Given the description of an element on the screen output the (x, y) to click on. 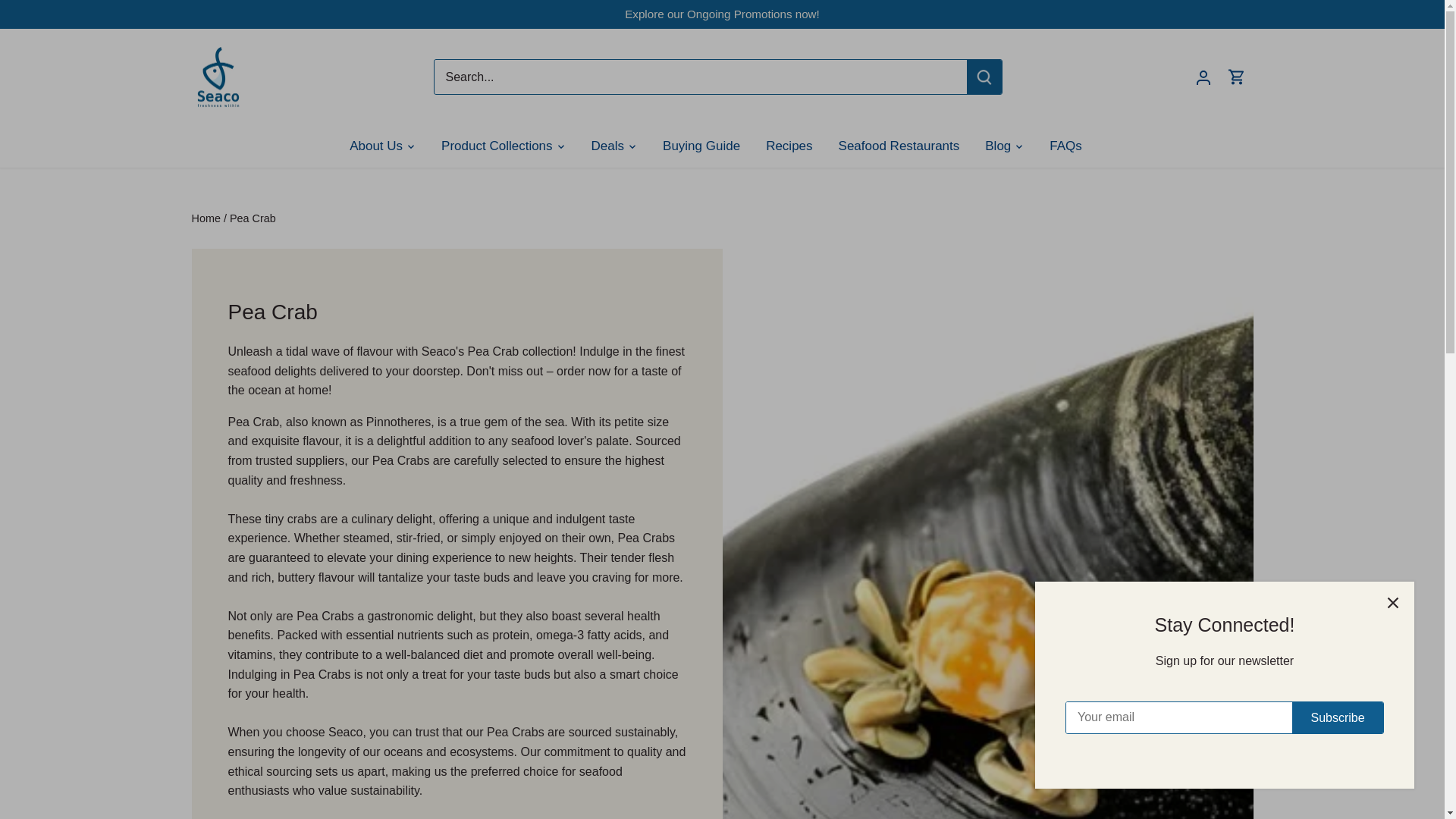
Explore our Ongoing Promotions now! (721, 13)
Product Collections (496, 146)
About Us (381, 146)
